Given the description of an element on the screen output the (x, y) to click on. 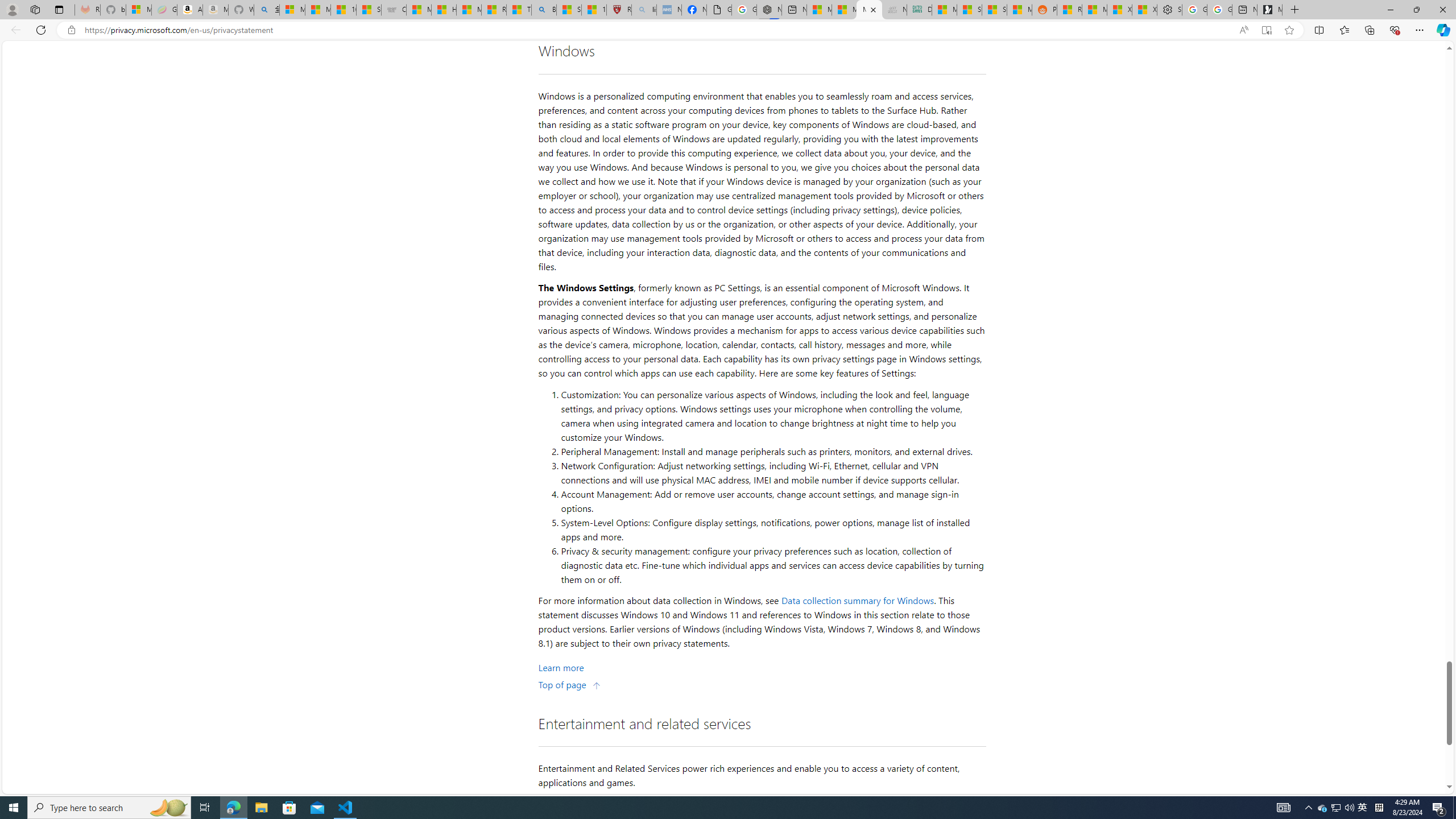
R******* | Trusted Community Engagement and Contributions (1069, 9)
Google Analytics Opt-out Browser Add-on Download Page (718, 9)
Learn More about Windows (560, 667)
Top of page (569, 684)
Enter Immersive Reader (F9) (1266, 29)
